Given the description of an element on the screen output the (x, y) to click on. 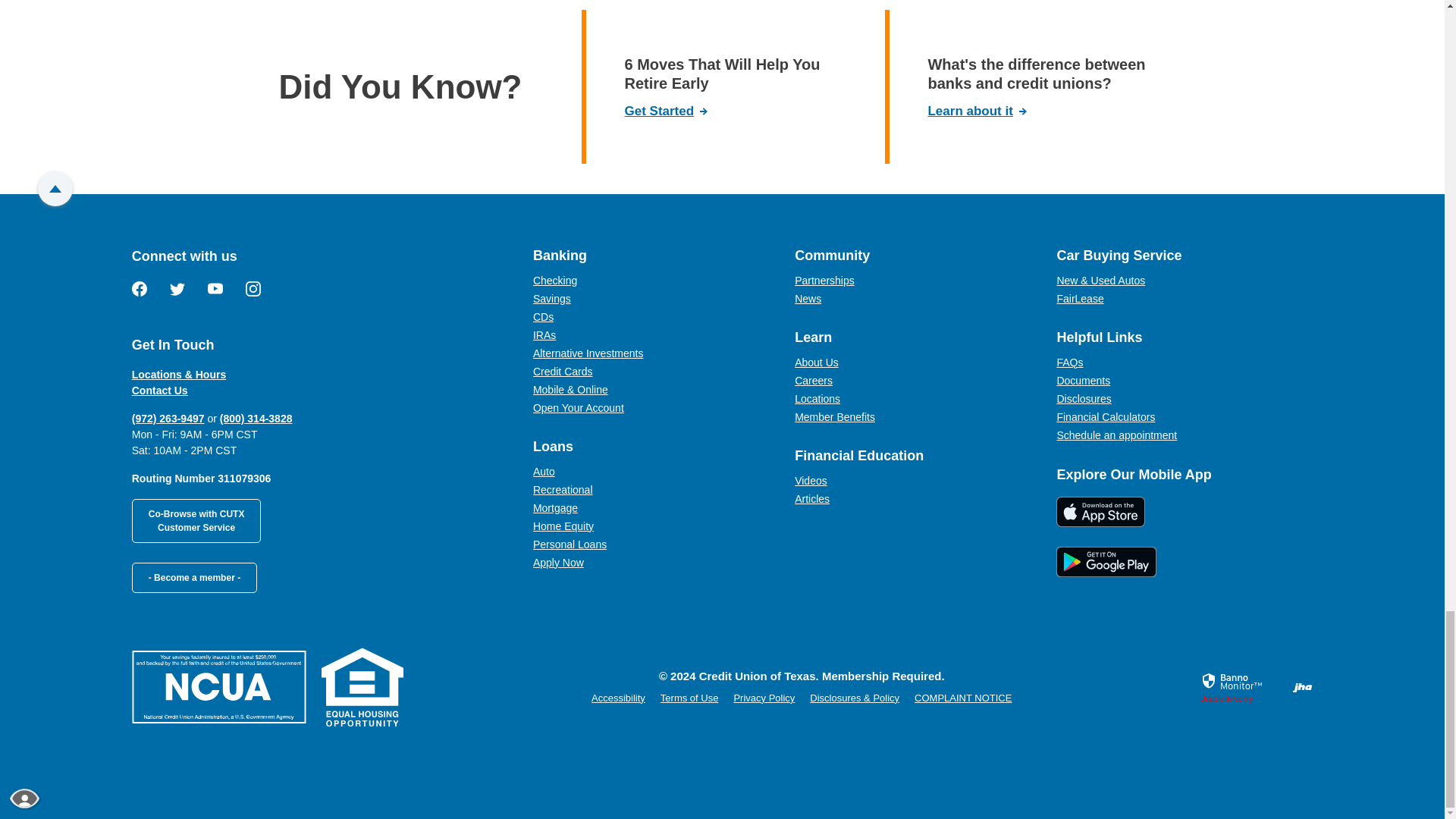
NCUA (218, 686)
Created by Banno (1302, 686)
Equal Housing Lender (362, 686)
Scanned by Banno Monitor (1232, 680)
